Given the description of an element on the screen output the (x, y) to click on. 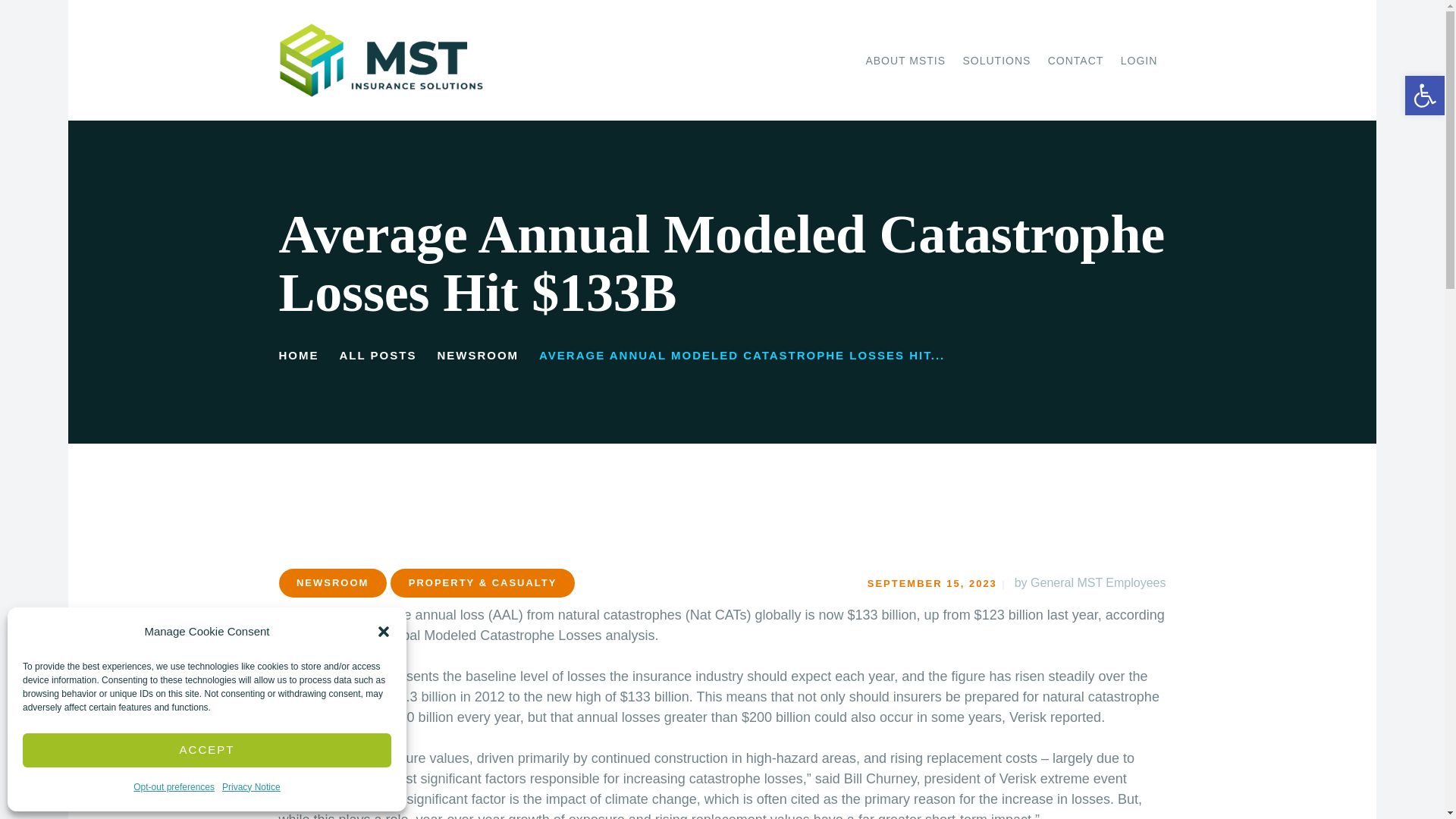
CONTACT (1075, 60)
Opt-out preferences (173, 787)
ABOUT MSTIS (905, 60)
ACCEPT (207, 750)
SOLUTIONS (996, 60)
Accessibility Tools (1424, 95)
LOGIN (1139, 60)
Privacy Notice (251, 787)
